Given the description of an element on the screen output the (x, y) to click on. 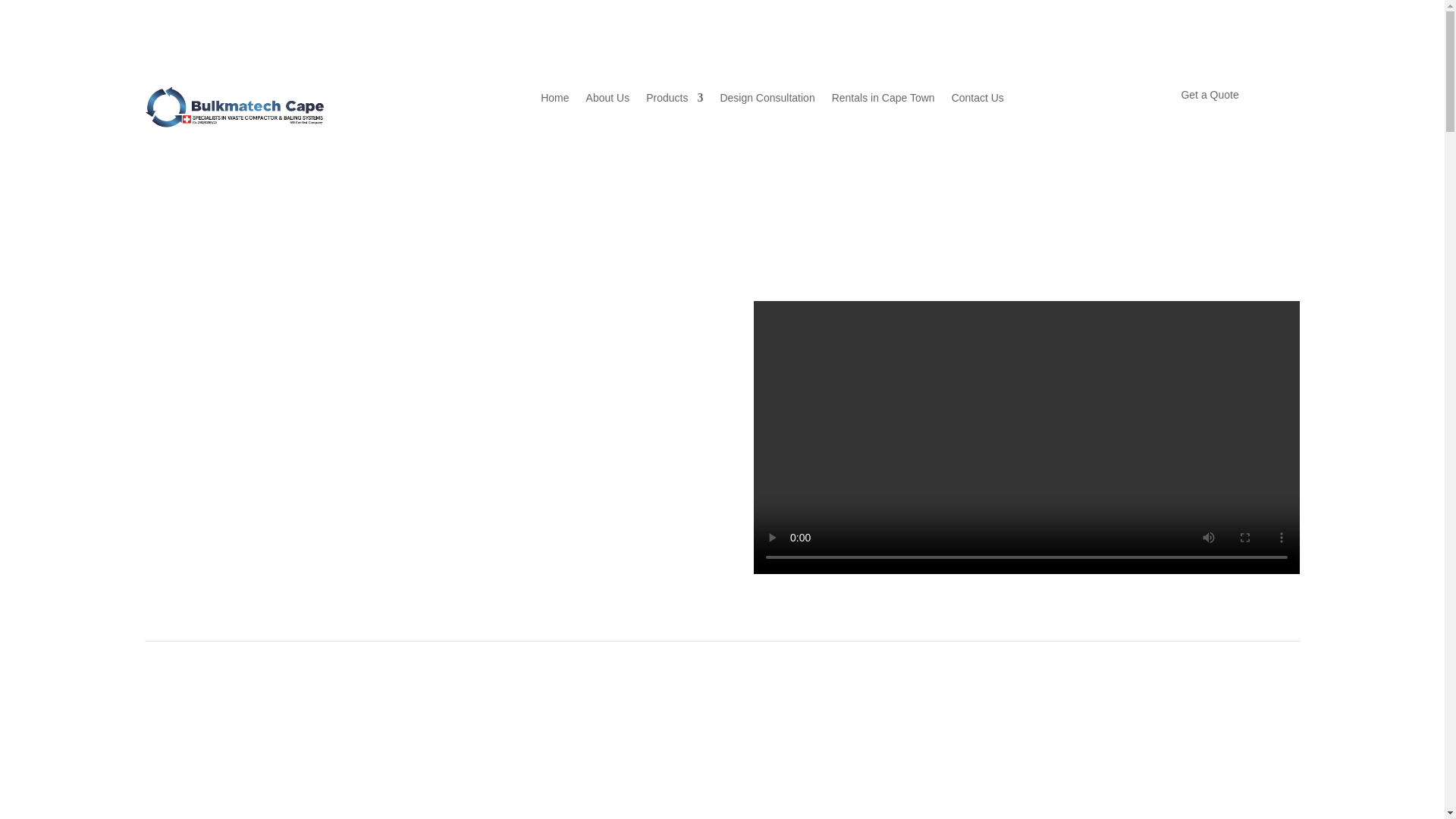
Products (674, 100)
Design Consultation (766, 100)
Home (554, 100)
Contact Us (978, 100)
Rentals in Cape Town (882, 100)
About Us (608, 100)
